Given the description of an element on the screen output the (x, y) to click on. 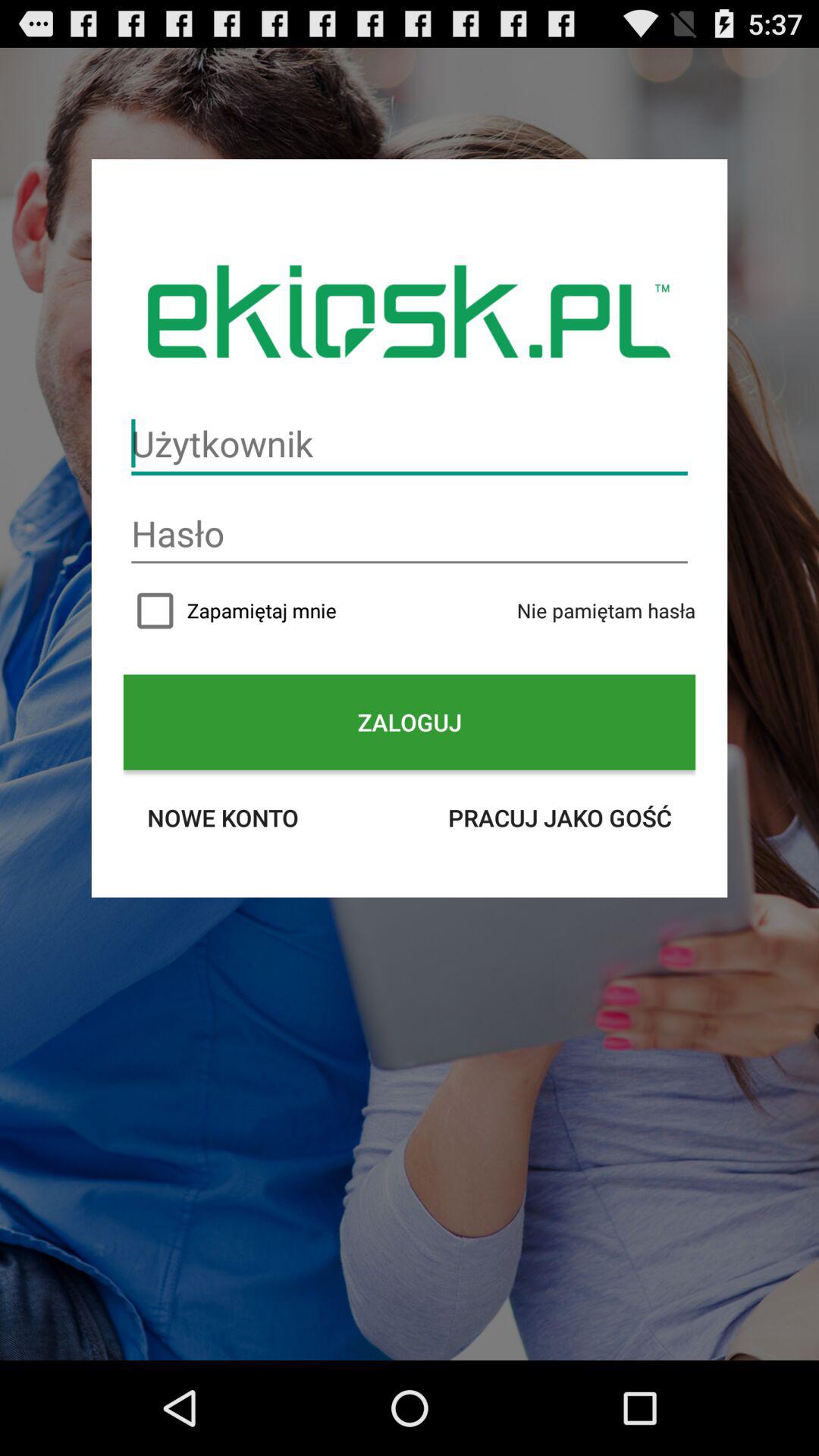
press nowe konto icon (222, 817)
